Given the description of an element on the screen output the (x, y) to click on. 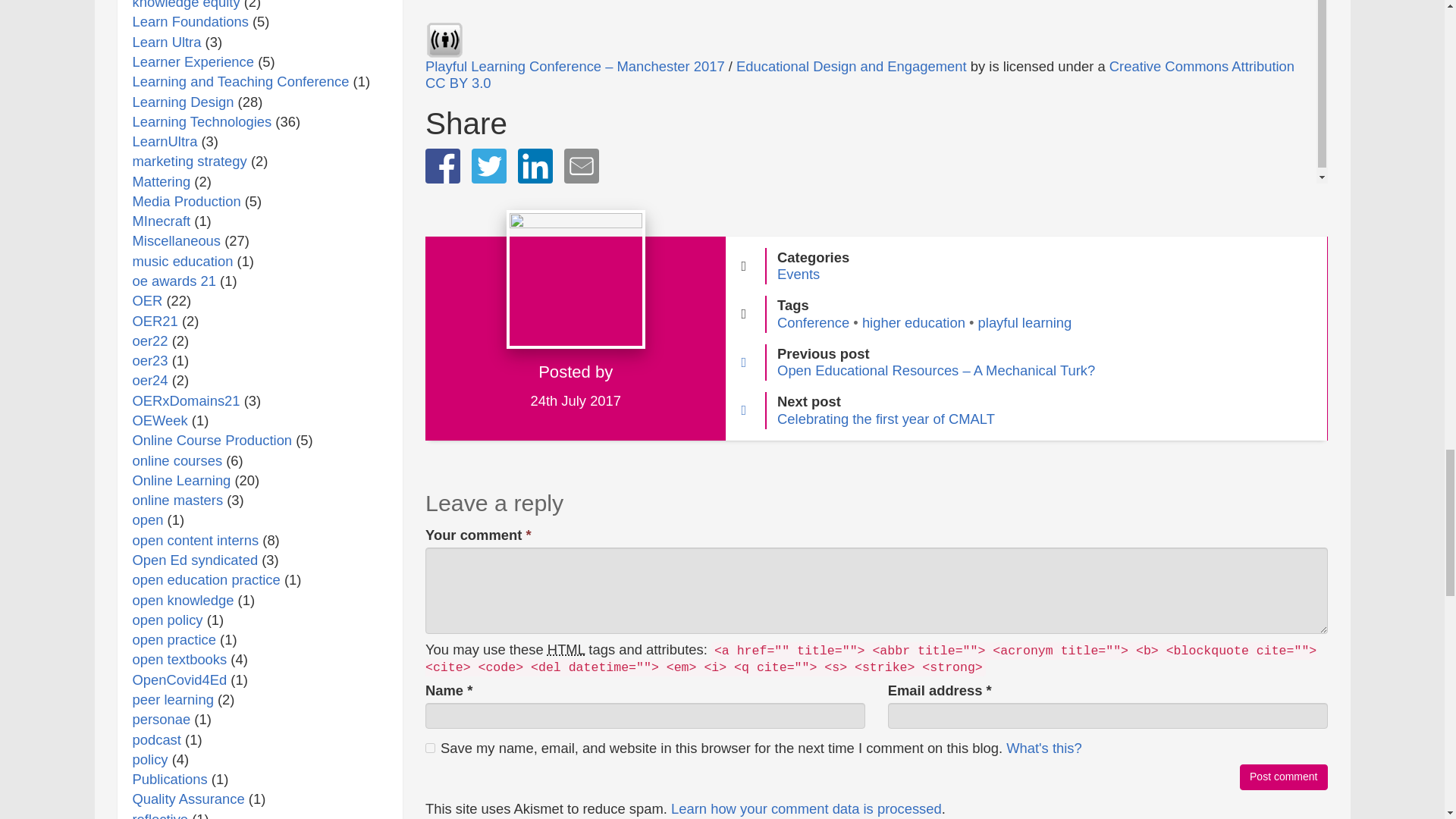
Remember your name and email address (1043, 747)
HyperText Markup Language (566, 649)
yes (430, 747)
Post comment (1283, 777)
